Given the description of an element on the screen output the (x, y) to click on. 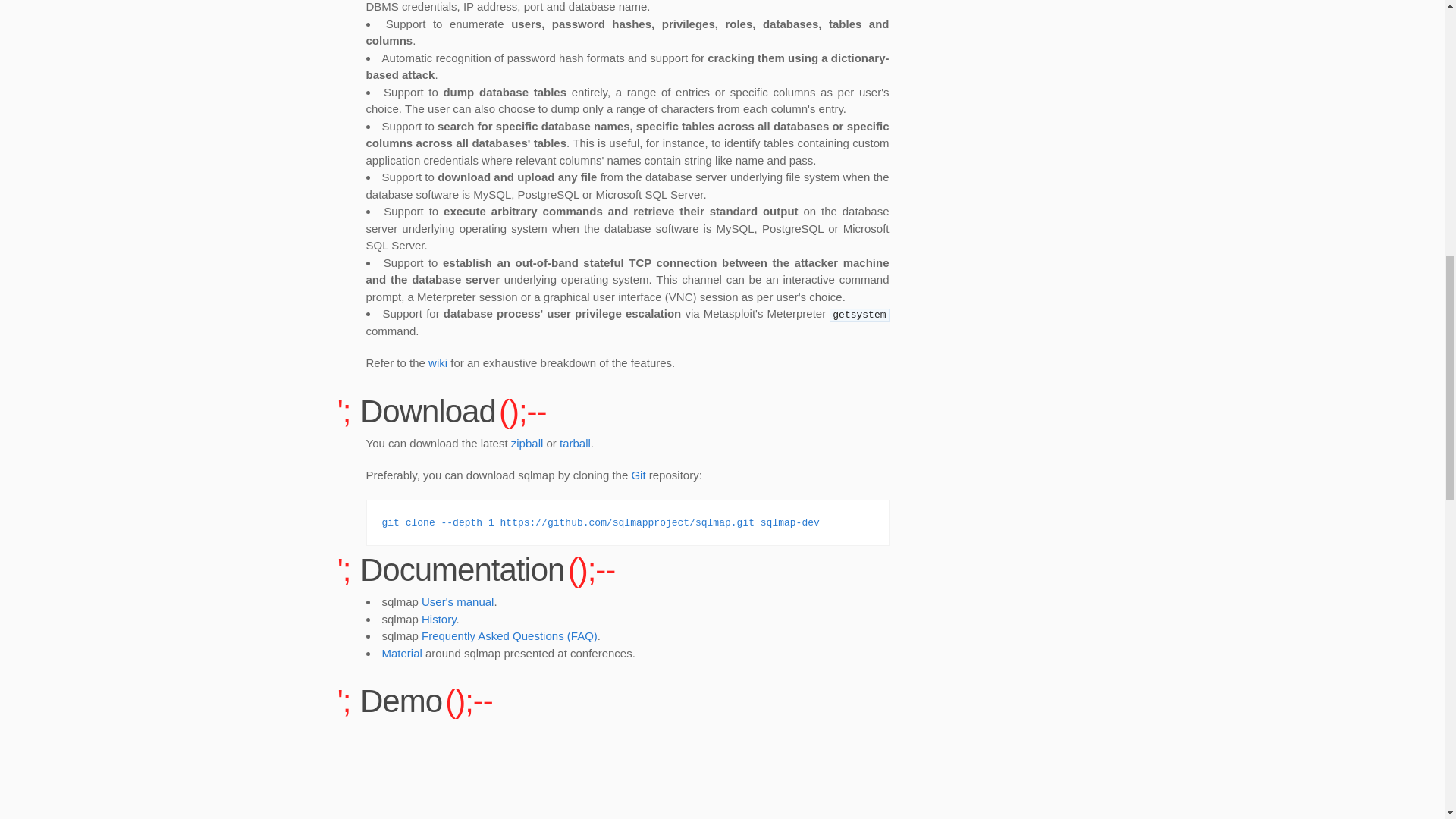
User's manual (457, 601)
Download (626, 410)
Demo (626, 700)
Git (637, 474)
History (439, 618)
Documentation (626, 569)
tarball (575, 442)
Material (401, 653)
wiki (437, 362)
zipball (527, 442)
